Given the description of an element on the screen output the (x, y) to click on. 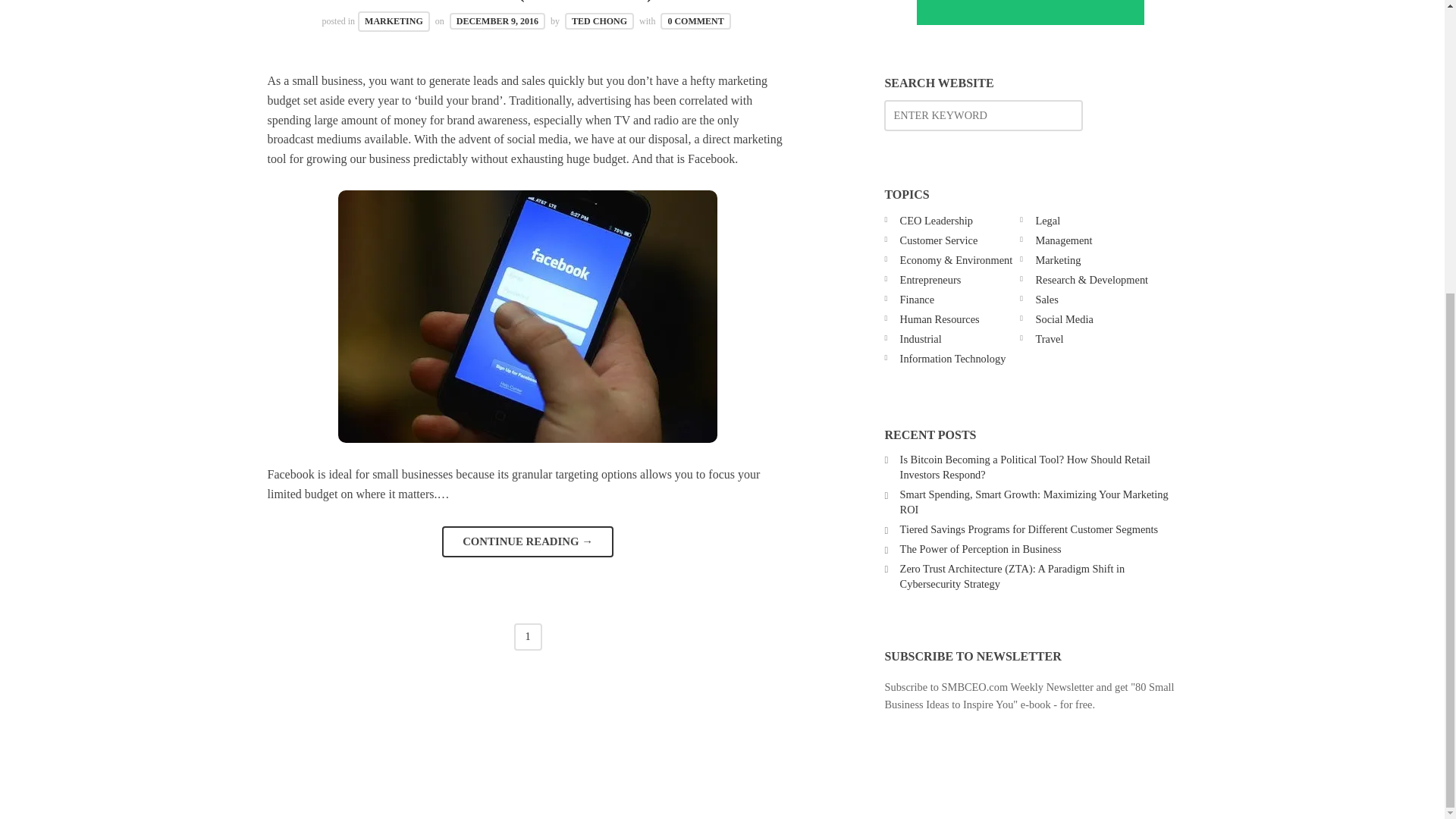
Industrial (920, 338)
Smart Spending, Smart Growth: Maximizing Your Marketing ROI (1034, 501)
Social Media (1064, 318)
Customer Service (938, 240)
Tiered Savings Programs for Different Customer Segments (1028, 529)
Finance (916, 299)
CEO Leadership (935, 220)
8:23 am (496, 21)
Travel (1048, 338)
Entrepreneurs (929, 279)
MARKETING (393, 21)
Information Technology (952, 358)
Legal (1047, 220)
0 COMMENT (695, 21)
